Given the description of an element on the screen output the (x, y) to click on. 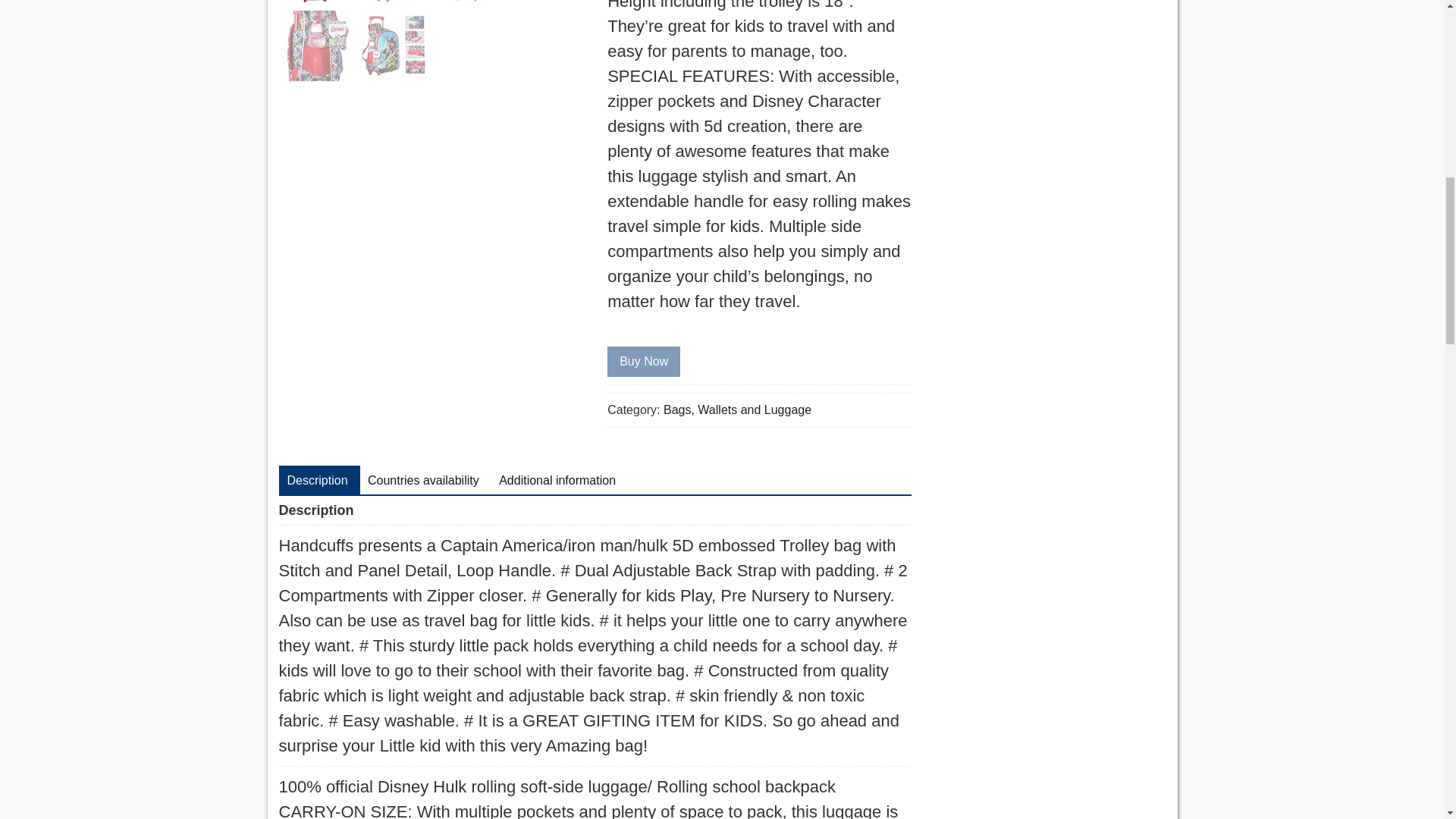
Buy Now (643, 361)
Additional information (557, 481)
Countries availability (423, 481)
Bags, Wallets and Luggage (736, 409)
Description (316, 481)
